Given the description of an element on the screen output the (x, y) to click on. 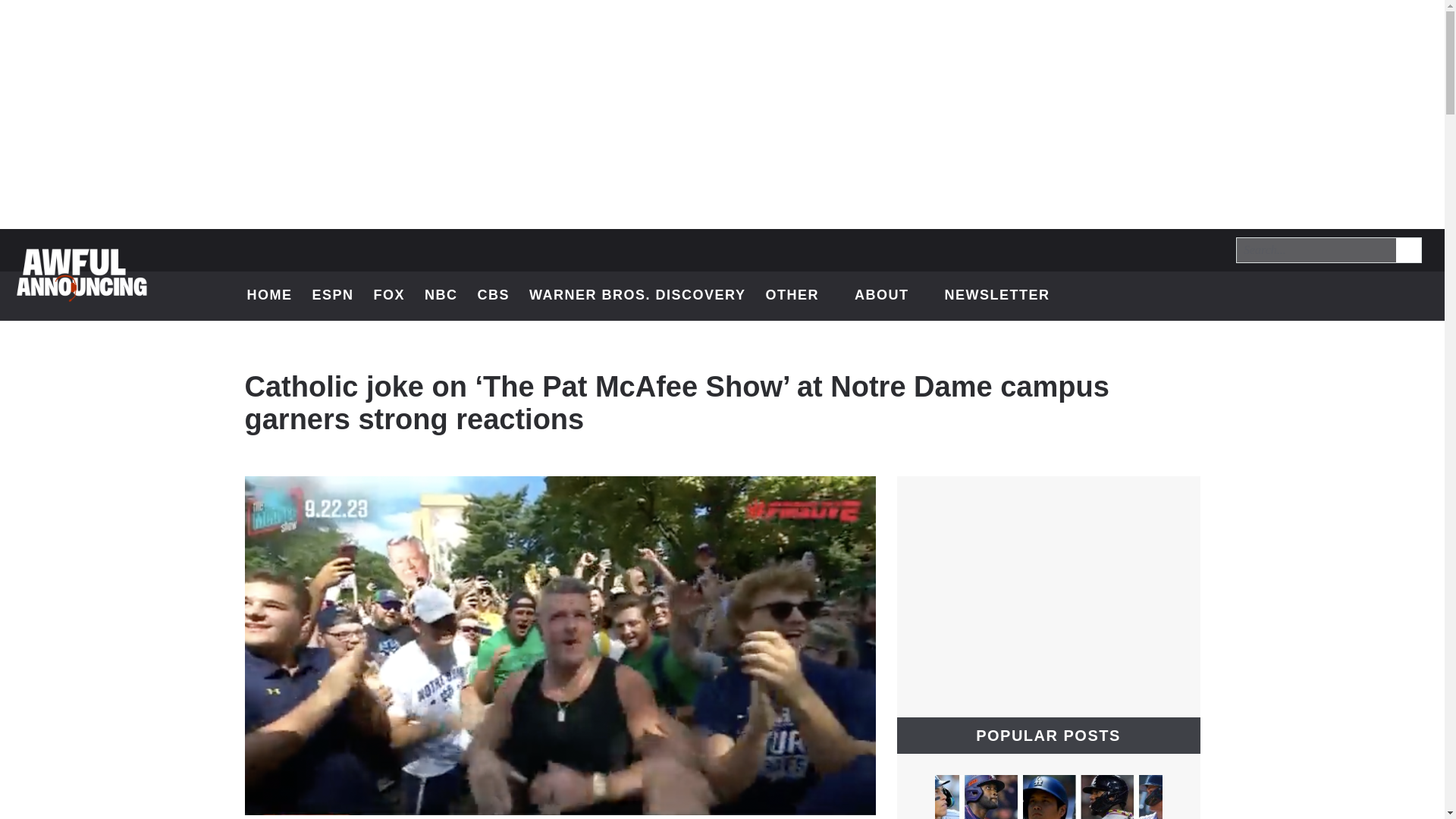
CBS (493, 296)
Link to RSS (1414, 296)
Link to Facebook (1336, 296)
HOME (269, 296)
NEWSLETTER (996, 296)
Link to Twitter (1296, 296)
WARNER BROS. DISCOVERY (636, 296)
OTHER (1409, 249)
ABOUT (799, 296)
